Given the description of an element on the screen output the (x, y) to click on. 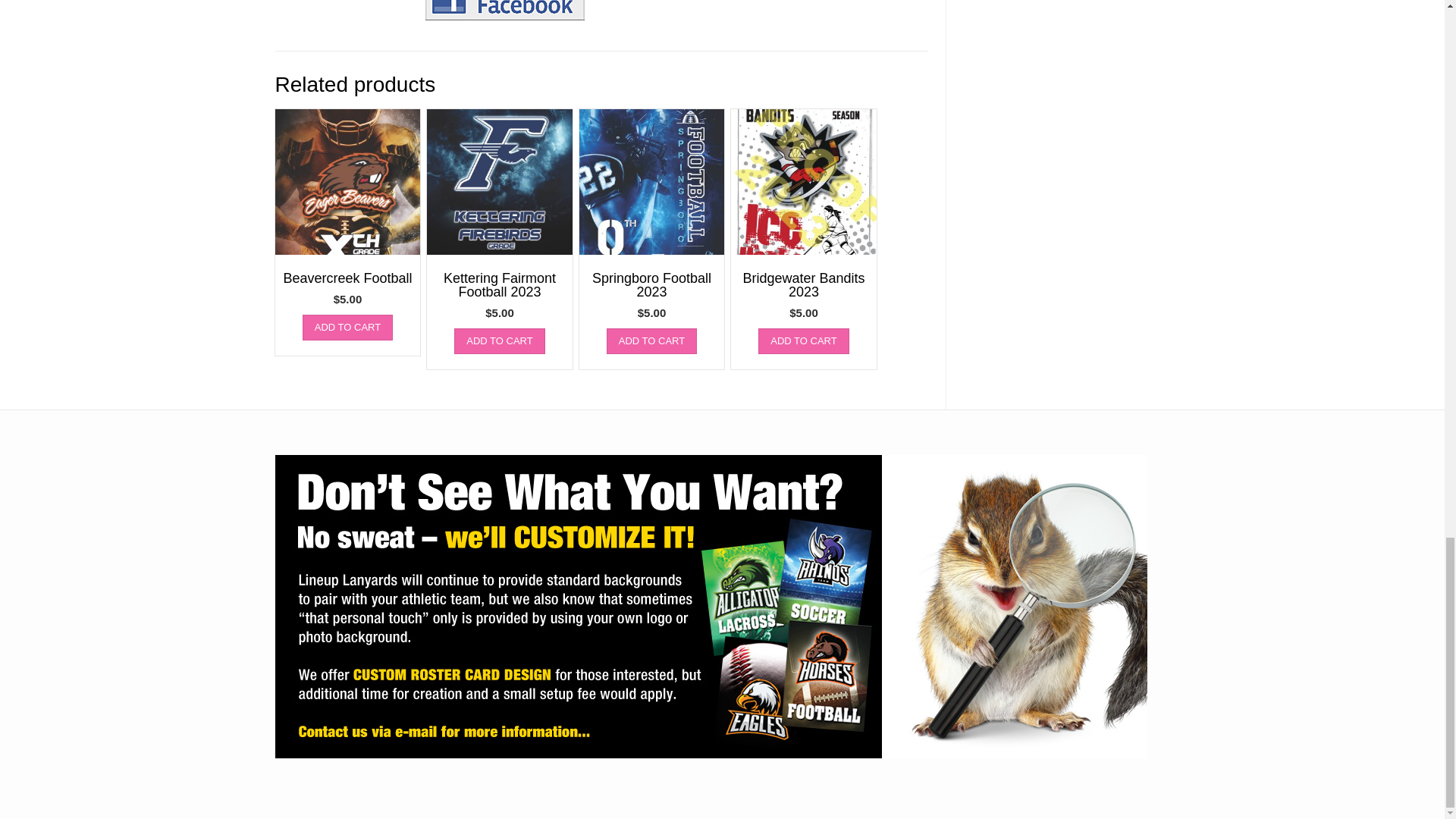
ADD TO CART (803, 340)
ADD TO CART (652, 340)
ADD TO CART (499, 340)
ADD TO CART (347, 327)
